Given the description of an element on the screen output the (x, y) to click on. 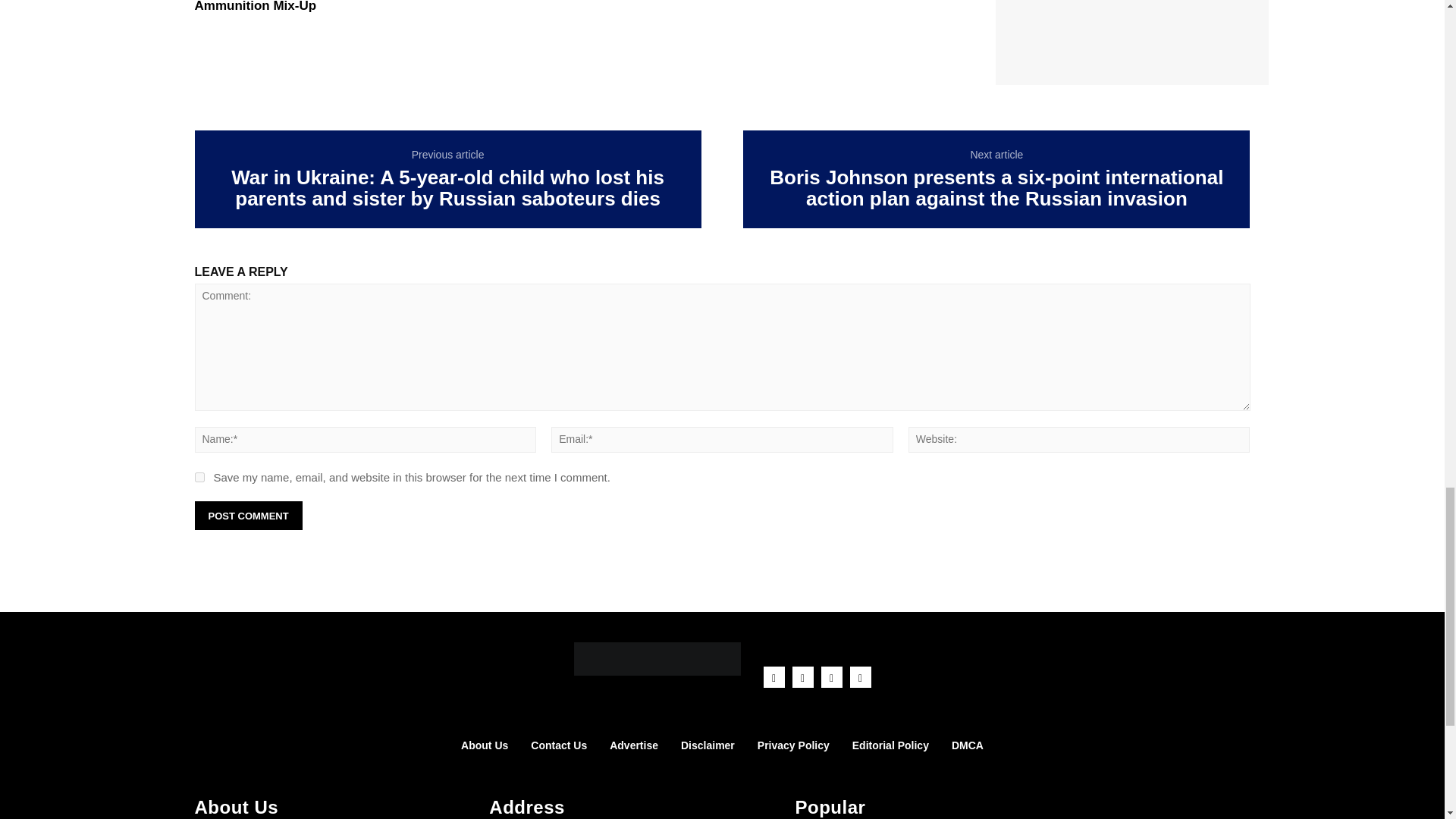
yes (198, 477)
Post Comment (247, 515)
